Given the description of an element on the screen output the (x, y) to click on. 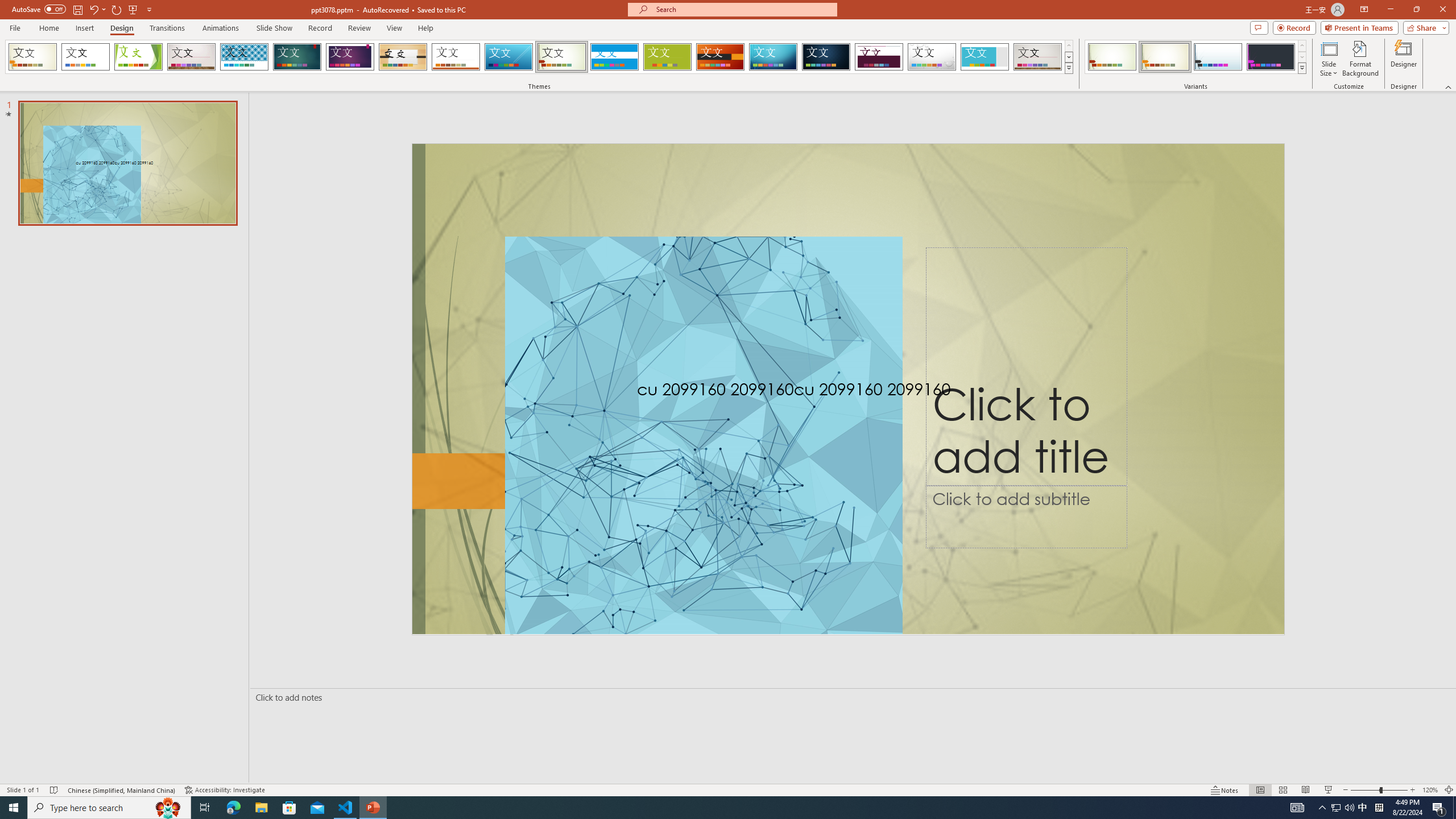
Themes (1068, 67)
Damask Loading Preview... (826, 56)
Ion Boardroom Loading Preview... (350, 56)
Facet (138, 56)
Zoom 120% (1430, 790)
